Given the description of an element on the screen output the (x, y) to click on. 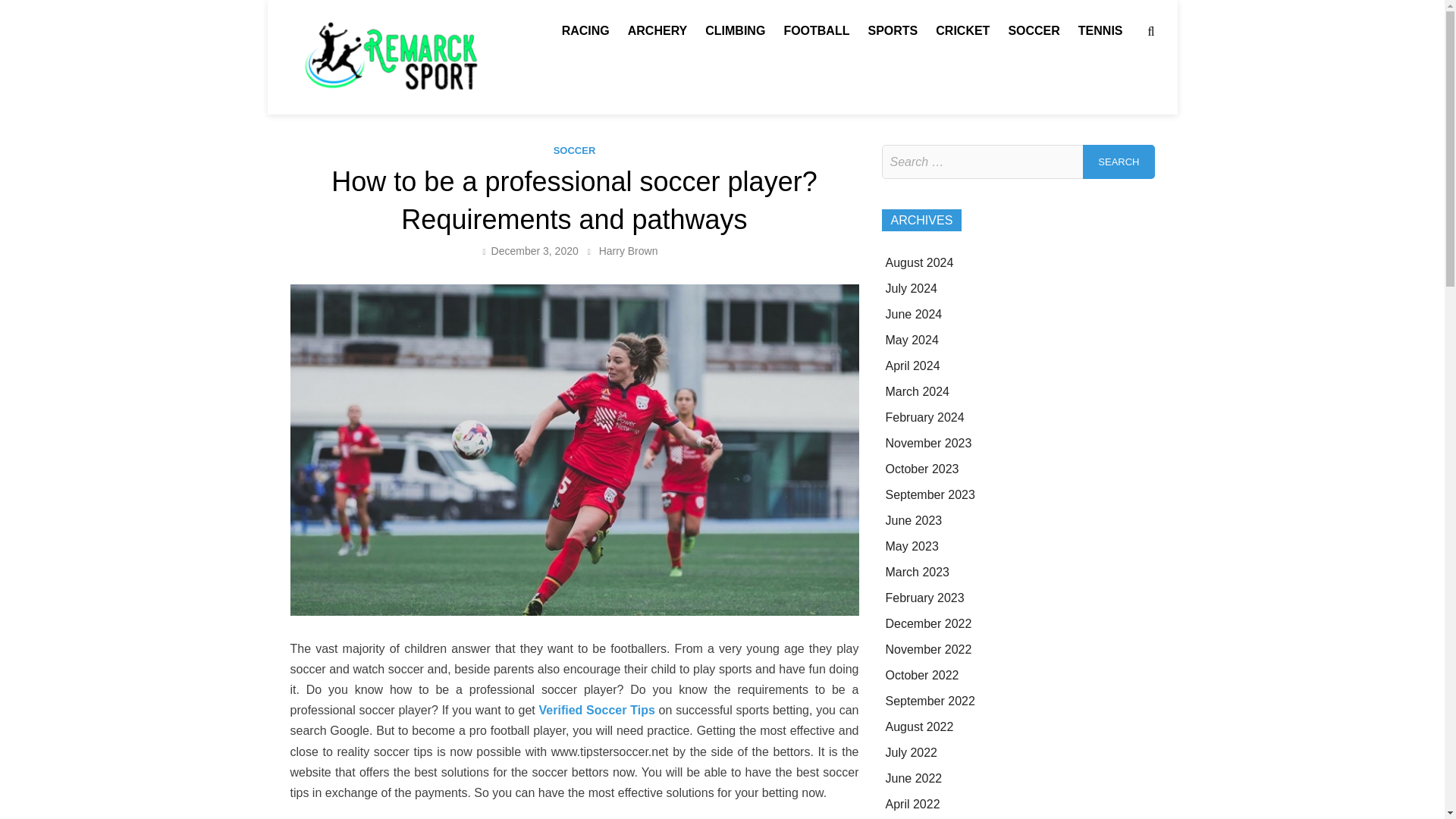
SOCCER (1033, 30)
May 2024 (912, 339)
December 2022 (928, 623)
May 2023 (912, 545)
Remarck Sport (569, 68)
Verified Soccer Tips (596, 709)
October 2023 (922, 468)
July 2024 (911, 287)
February 2024 (924, 417)
July 2022 (911, 752)
